Given the description of an element on the screen output the (x, y) to click on. 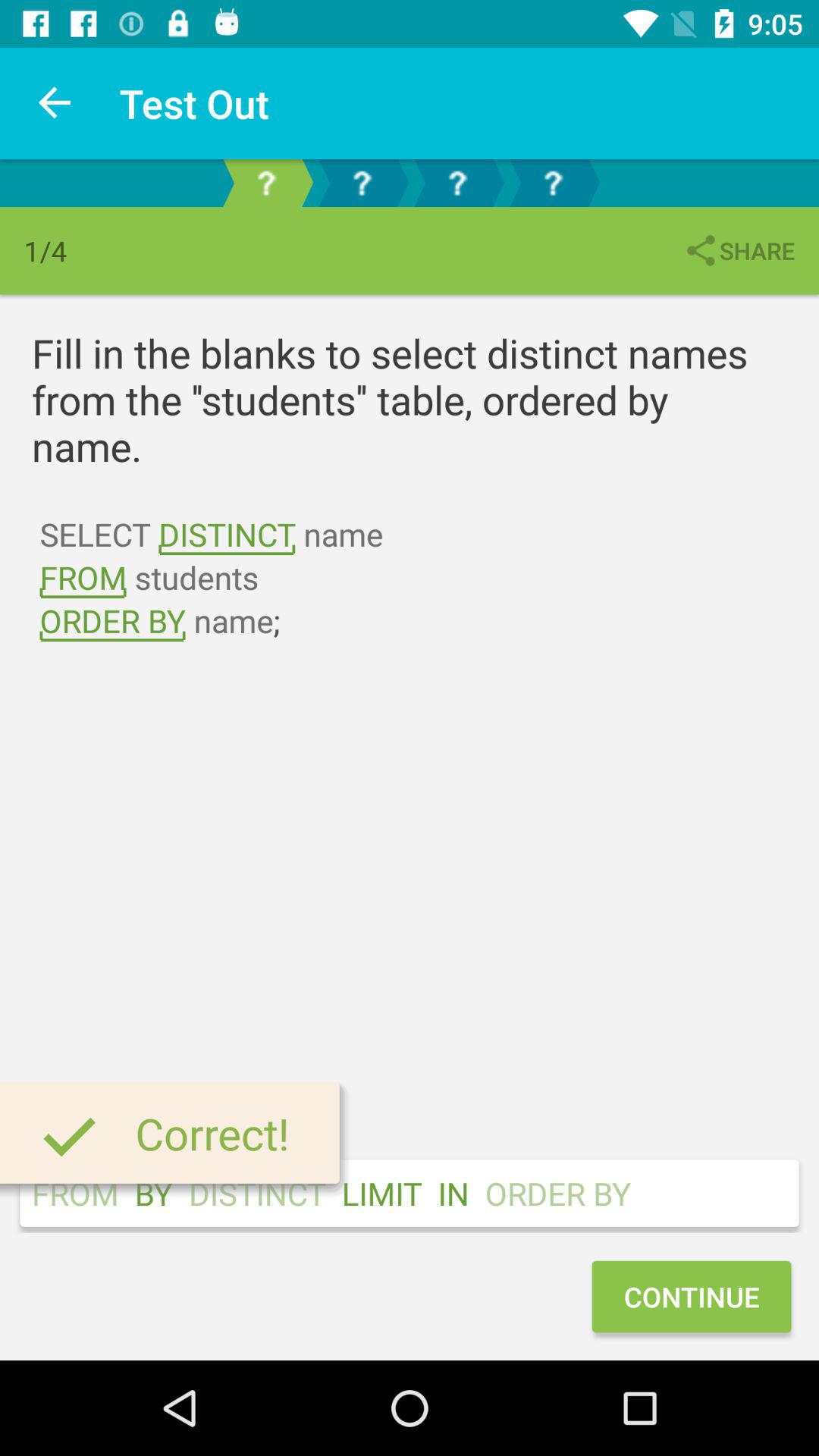
go to question 3 (457, 183)
